Given the description of an element on the screen output the (x, y) to click on. 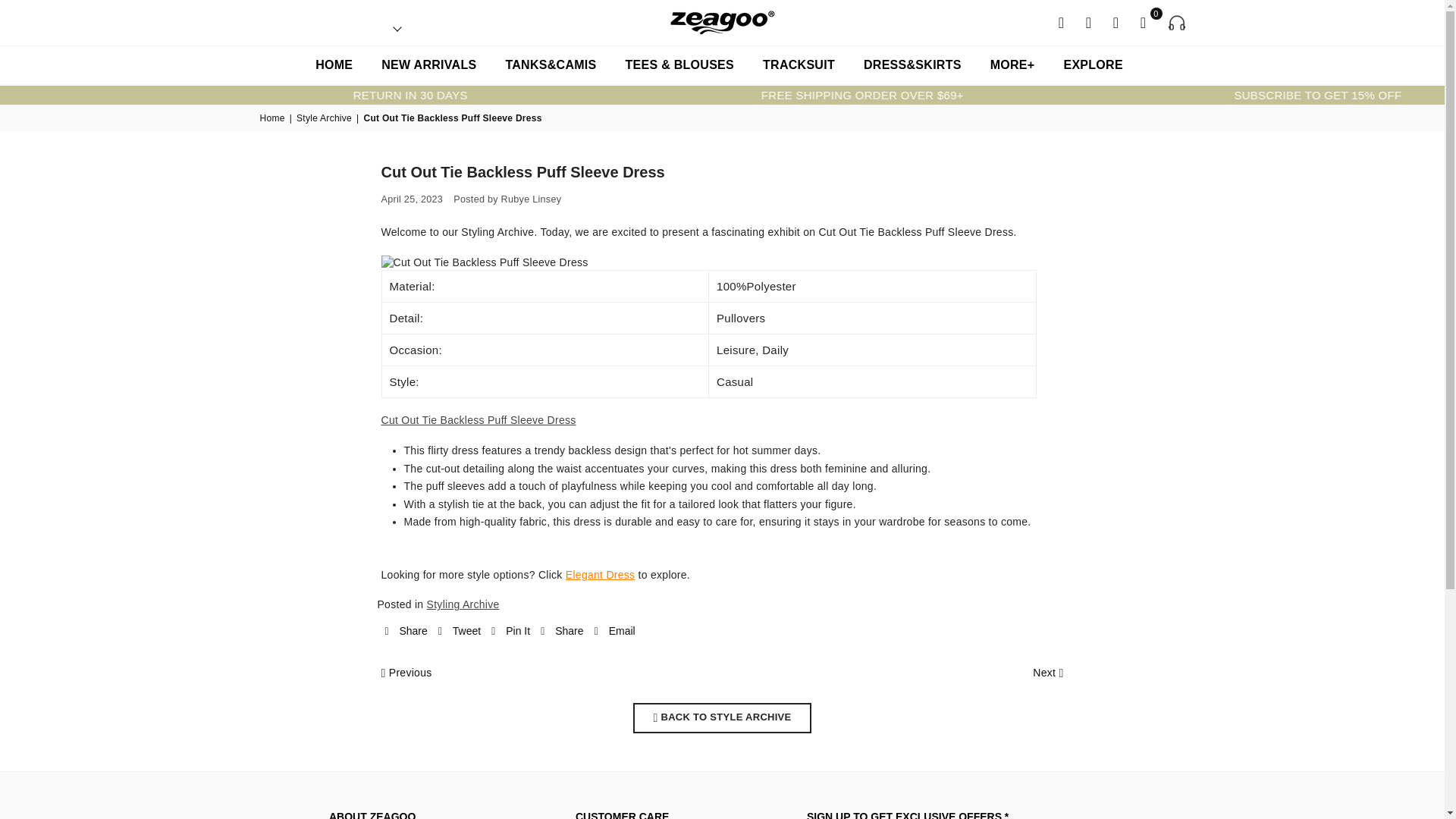
Cut Out Tie Backless Puff Sleeve Dress (477, 420)
HOME (334, 64)
EXPLORE (1092, 64)
Settings (1088, 20)
Share on Facebook (406, 631)
Cart (1143, 20)
Share on Linked In (561, 631)
Elegant Dress (600, 574)
Pin on Pinterest (510, 631)
Wishlist (1115, 20)
TRACKSUIT (798, 64)
Search (1061, 20)
Customer Service (1171, 22)
0 (1143, 20)
NEW ARRIVALS (428, 64)
